Given the description of an element on the screen output the (x, y) to click on. 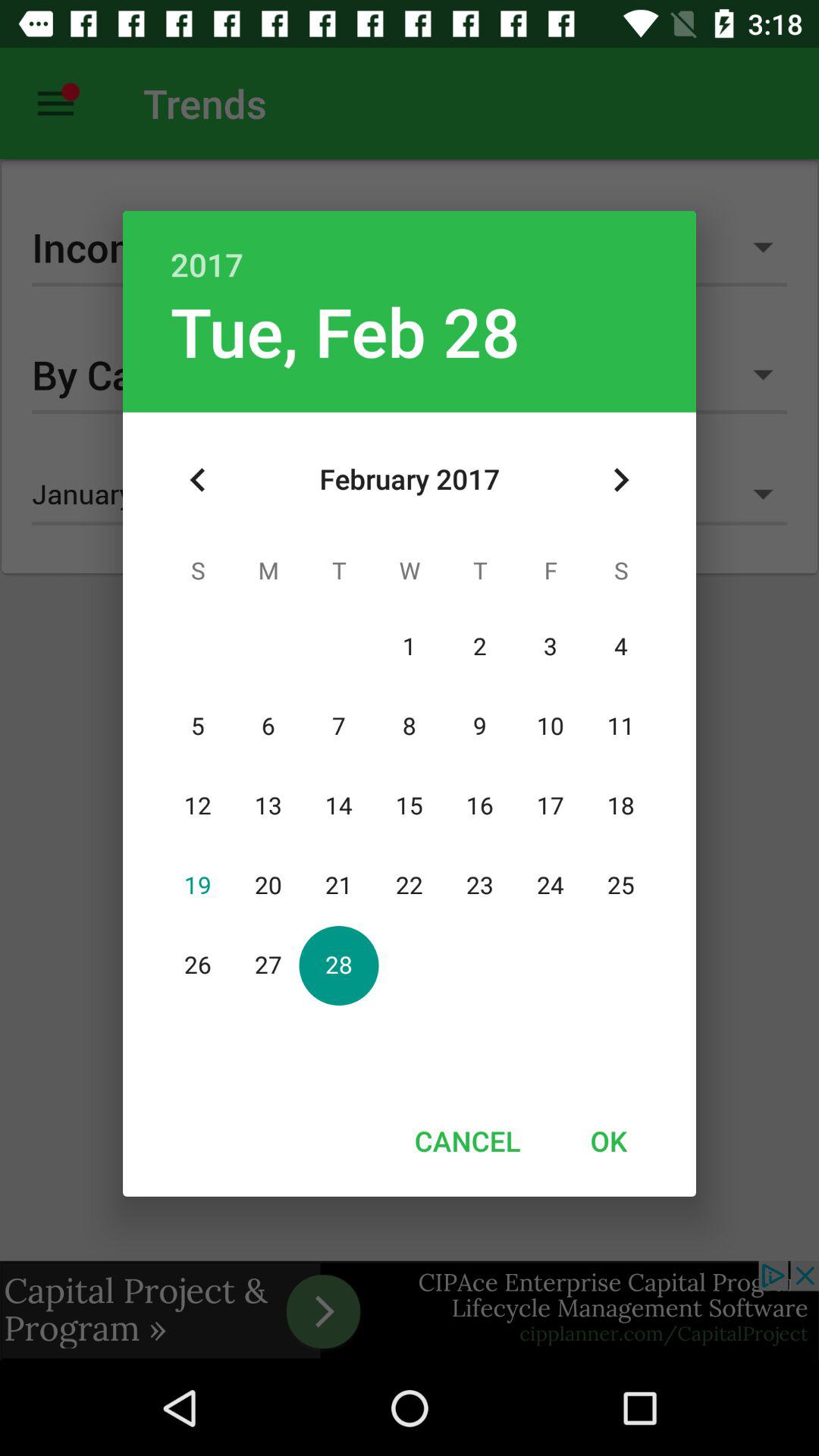
open icon at the top right corner (620, 479)
